Given the description of an element on the screen output the (x, y) to click on. 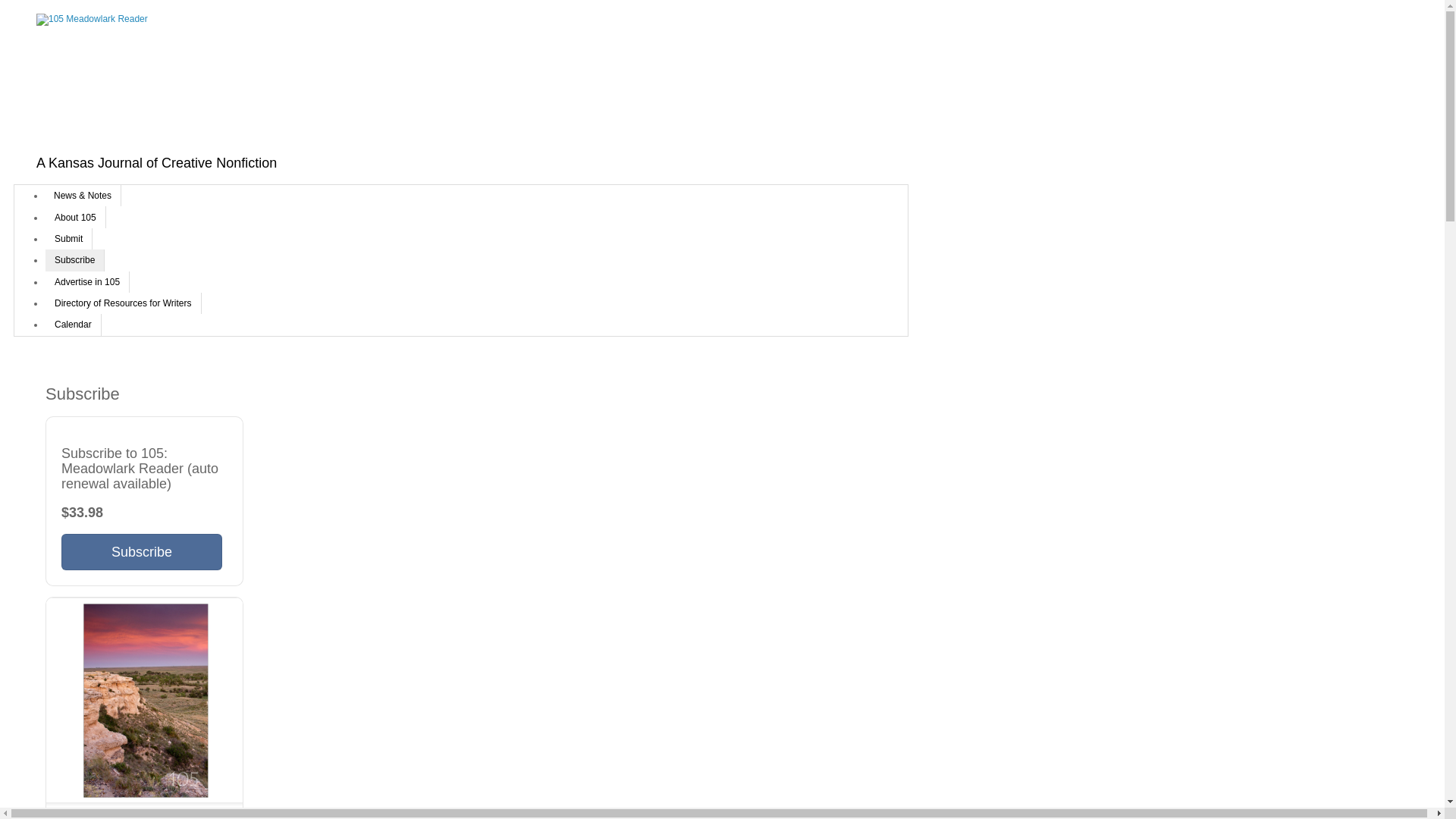
About 105 Element type: text (75, 216)
Subscribe Element type: text (141, 551)
Calendar Element type: text (72, 324)
Advertise in 105 Element type: text (86, 281)
News & Notes Element type: text (82, 195)
Subscribe Element type: text (74, 259)
Directory of Resources for Writers Element type: text (122, 302)
Submit Element type: text (68, 238)
